Given the description of an element on the screen output the (x, y) to click on. 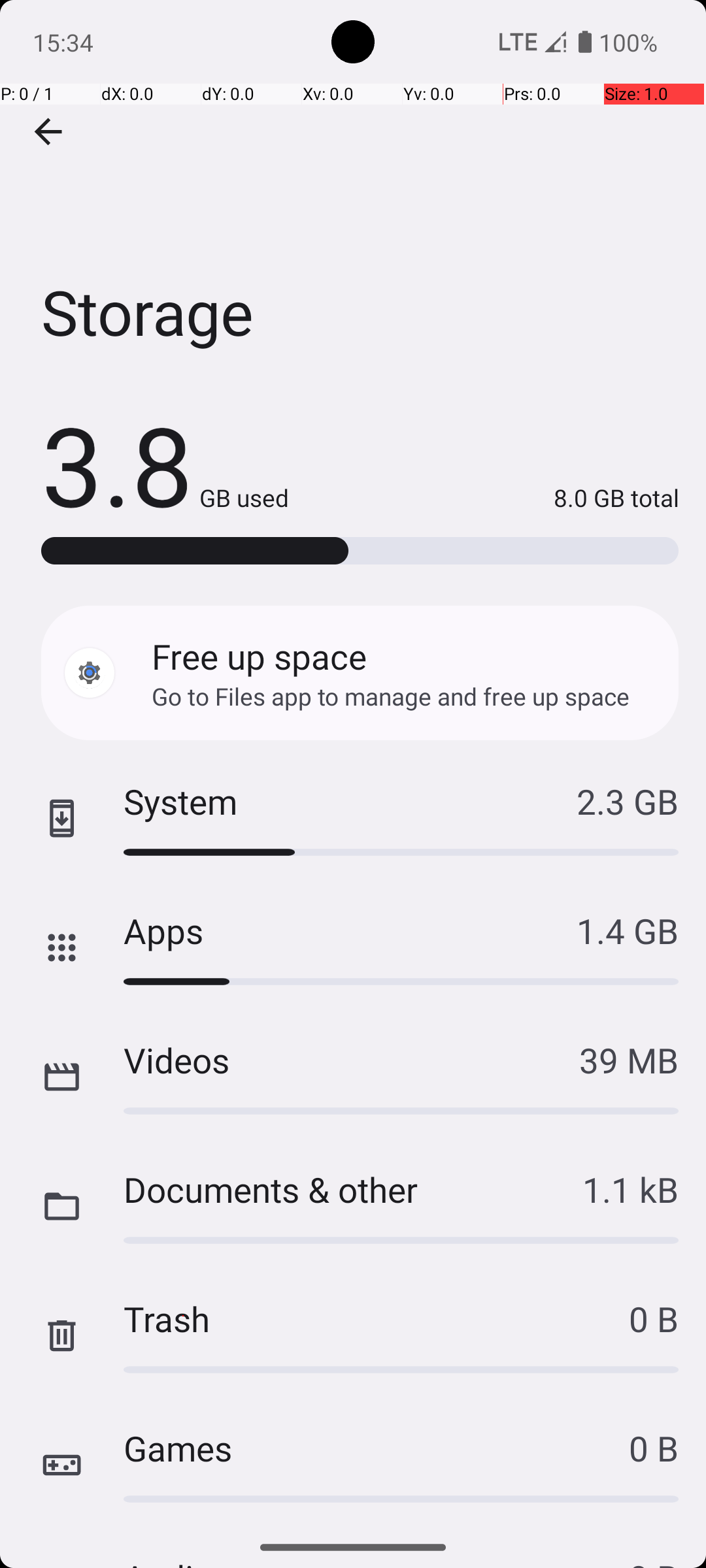
3.8 GB used Element type: android.widget.TextView (164, 463)
1.4 GB Element type: android.widget.TextView (627, 930)
39 MB Element type: android.widget.TextView (628, 1059)
1.1 kB Element type: android.widget.TextView (630, 1189)
